Given the description of an element on the screen output the (x, y) to click on. 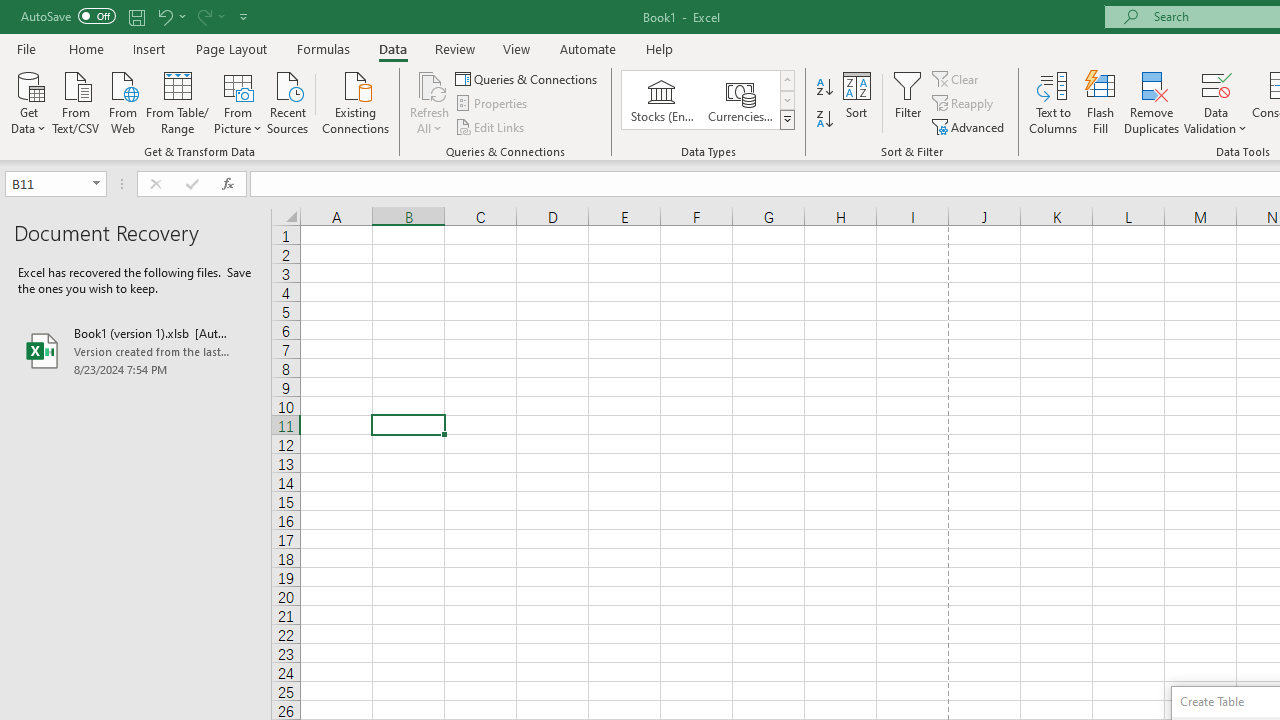
Row Down (786, 100)
Advanced... (970, 126)
Existing Connections (355, 101)
Refresh All (429, 102)
File Tab (26, 48)
Reapply (964, 103)
Customize Quick Access Toolbar (244, 15)
AutoSave (68, 16)
Formulas (323, 48)
Stocks (English) (662, 100)
Class: NetUIImage (787, 119)
